Given the description of an element on the screen output the (x, y) to click on. 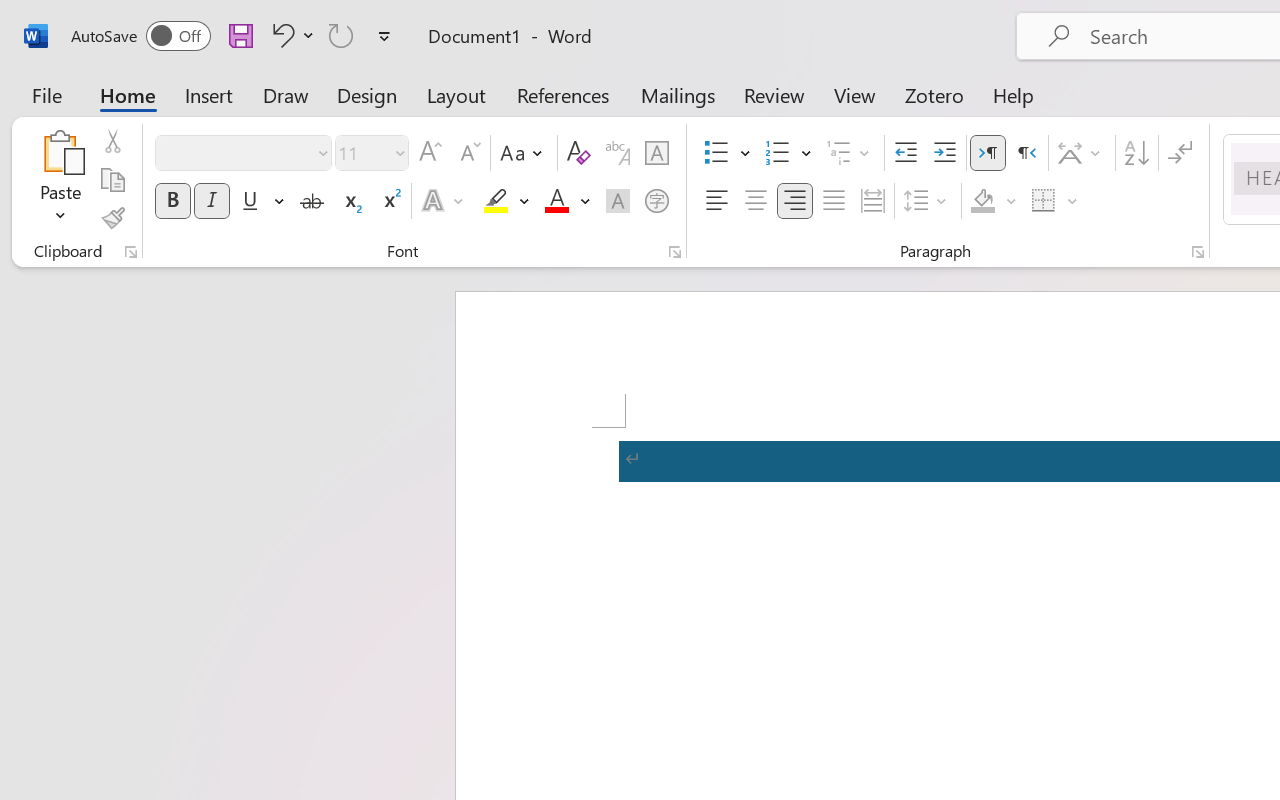
Undo (280, 35)
Text Highlight Color RGB(255, 255, 0) (495, 201)
